Given the description of an element on the screen output the (x, y) to click on. 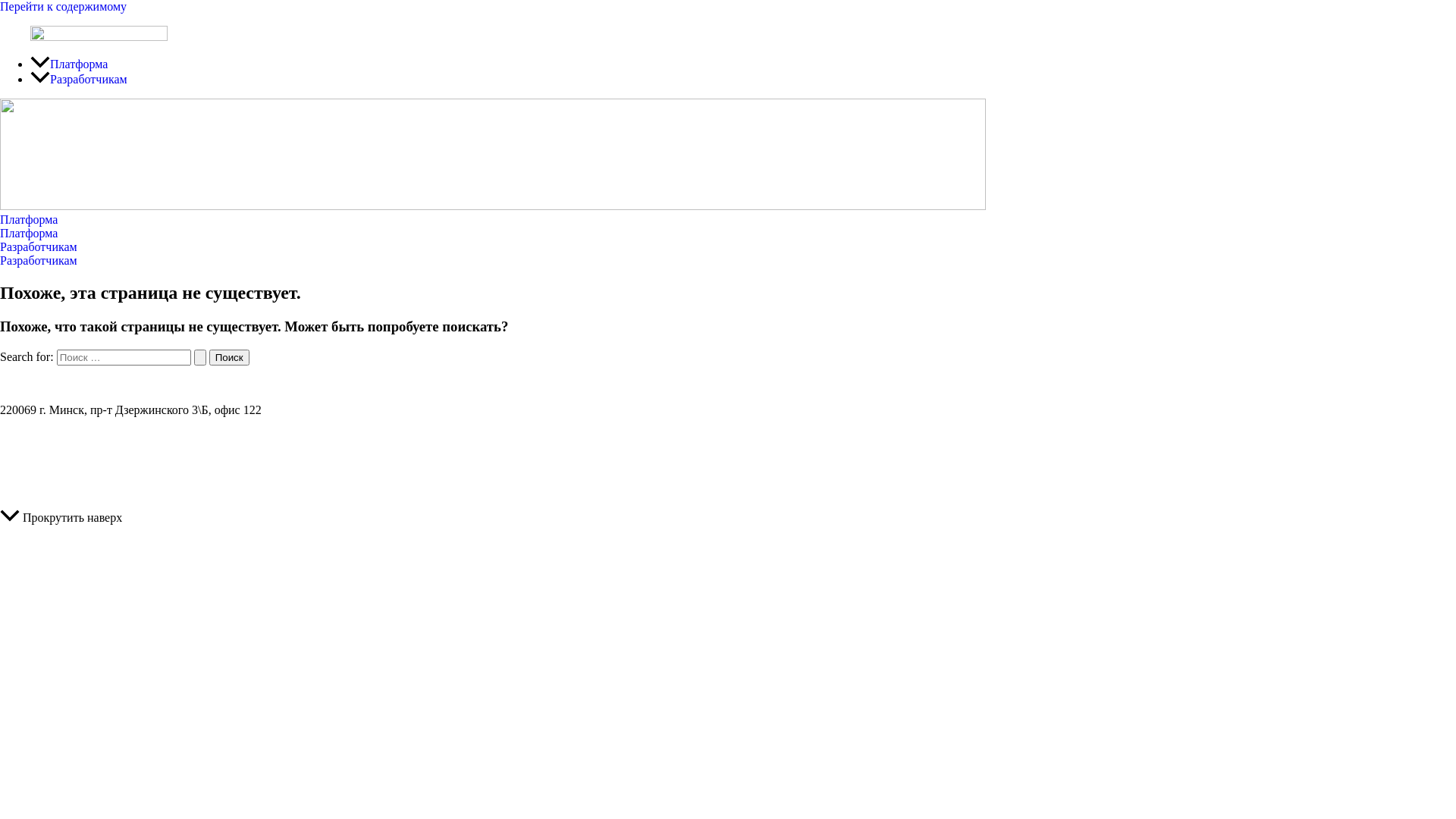
sales@dvntelecom.by Element type: text (727, 383)
